Given the description of an element on the screen output the (x, y) to click on. 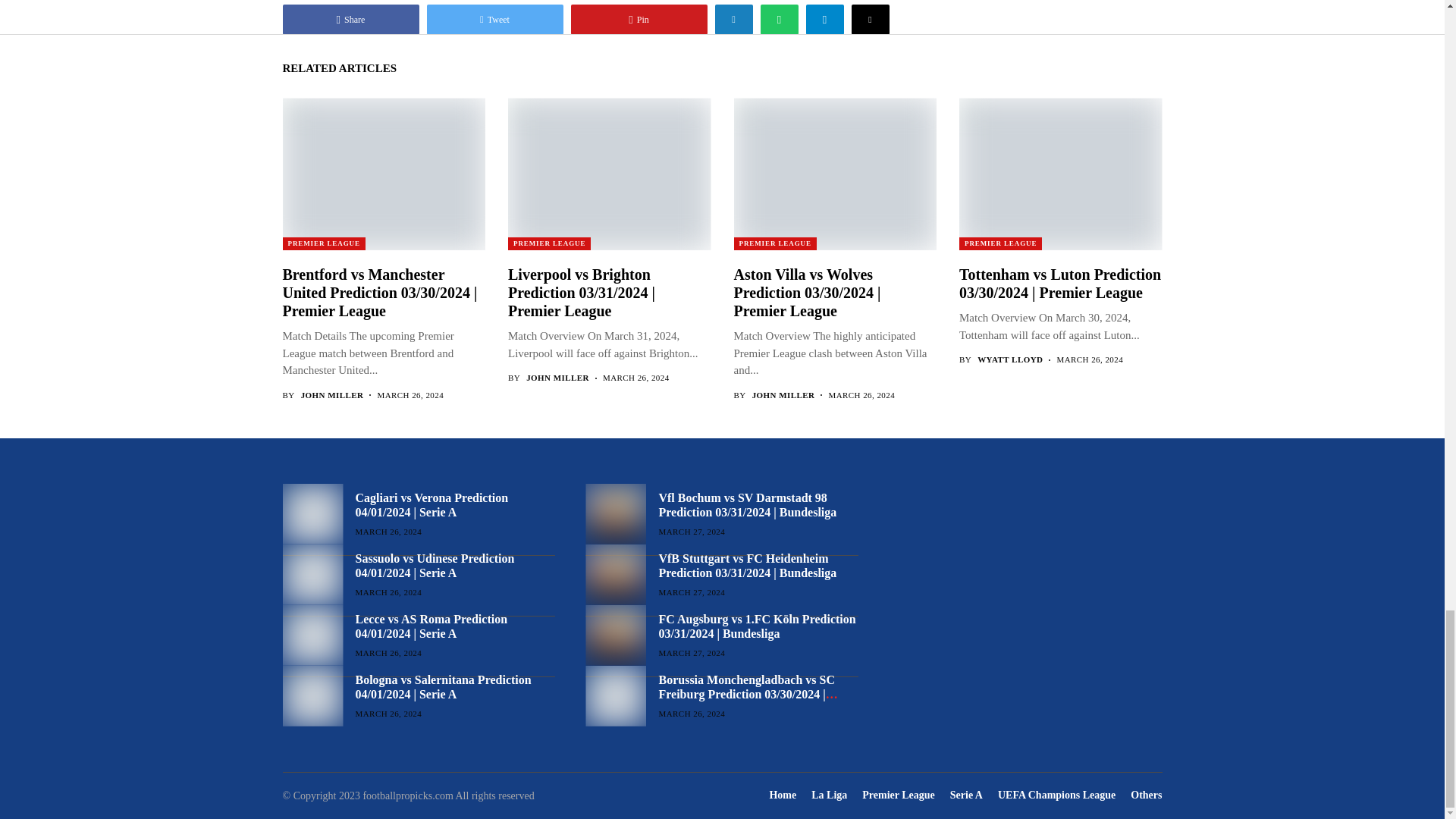
Posts by Wyatt Lloyd (1009, 359)
Posts by John Miller (557, 378)
Posts by John Miller (332, 395)
Posts by John Miller (783, 395)
